Given the description of an element on the screen output the (x, y) to click on. 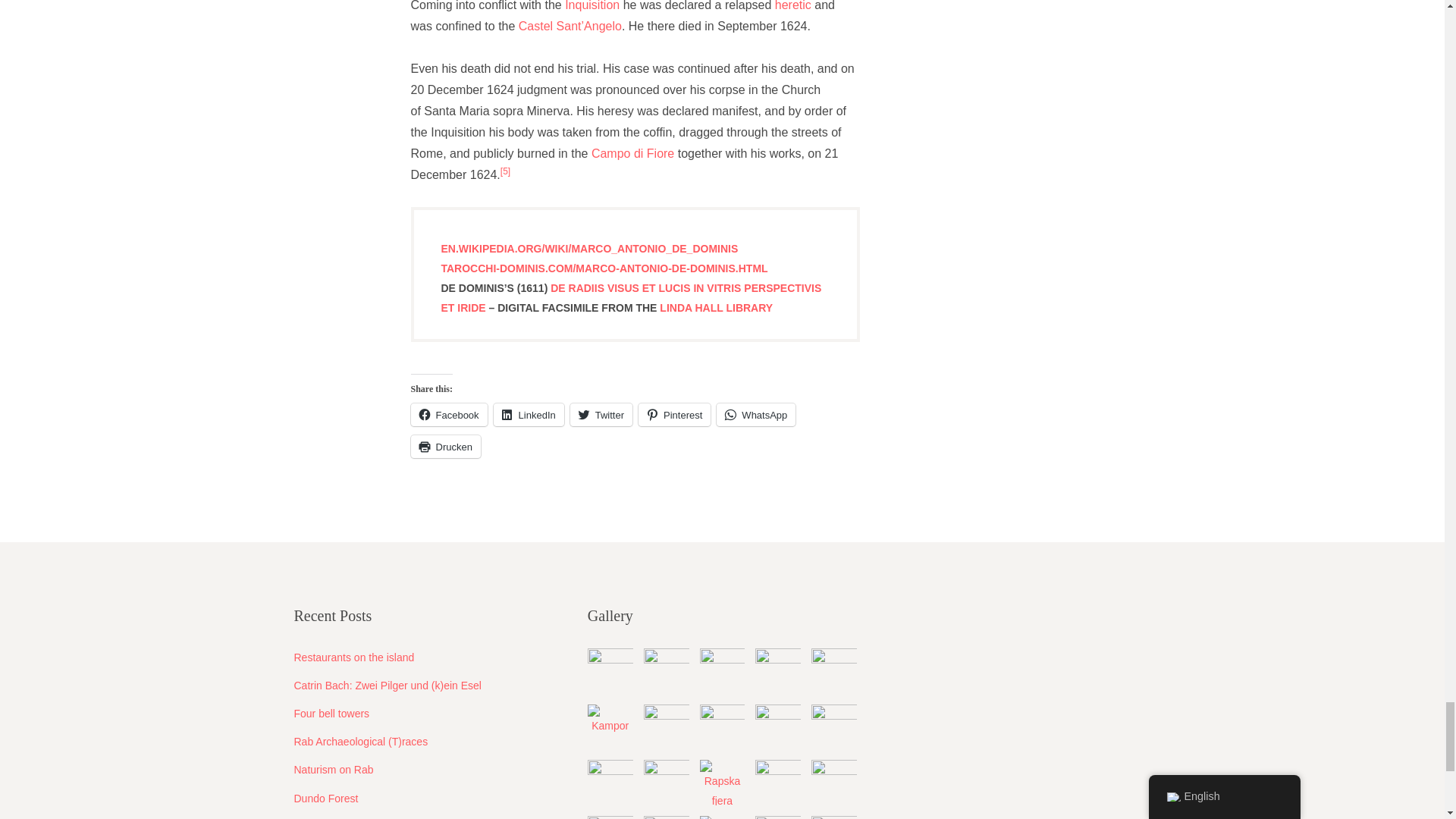
Twitter (600, 414)
Facebook (448, 414)
LinkedIn (528, 414)
